Given the description of an element on the screen output the (x, y) to click on. 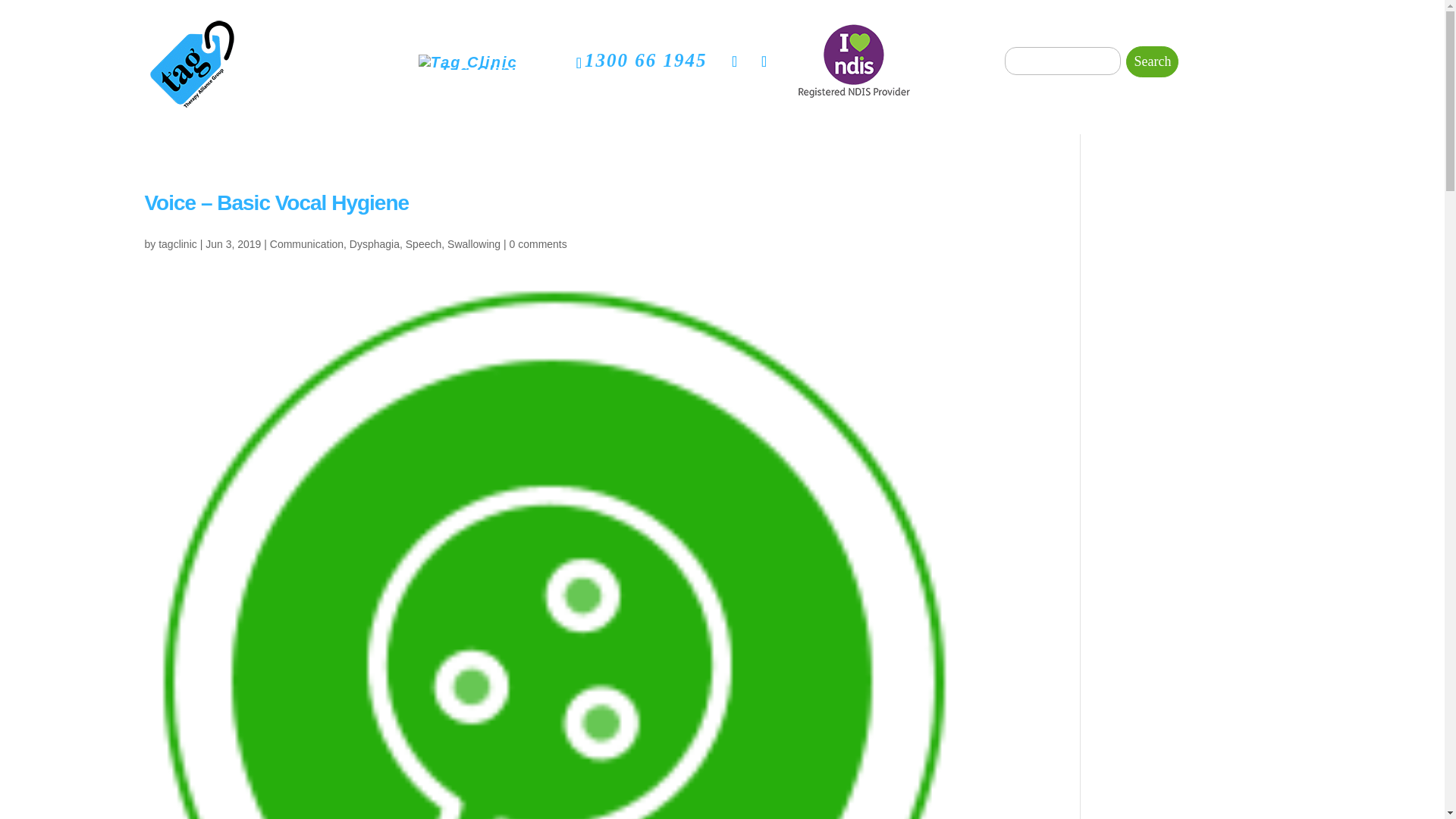
Services (389, 39)
Search (1151, 60)
1300 66 1945 (646, 59)
Search (1151, 60)
Home (291, 39)
About Us (829, 39)
Posts by tagclinic (177, 244)
Locations (507, 39)
